Given the description of an element on the screen output the (x, y) to click on. 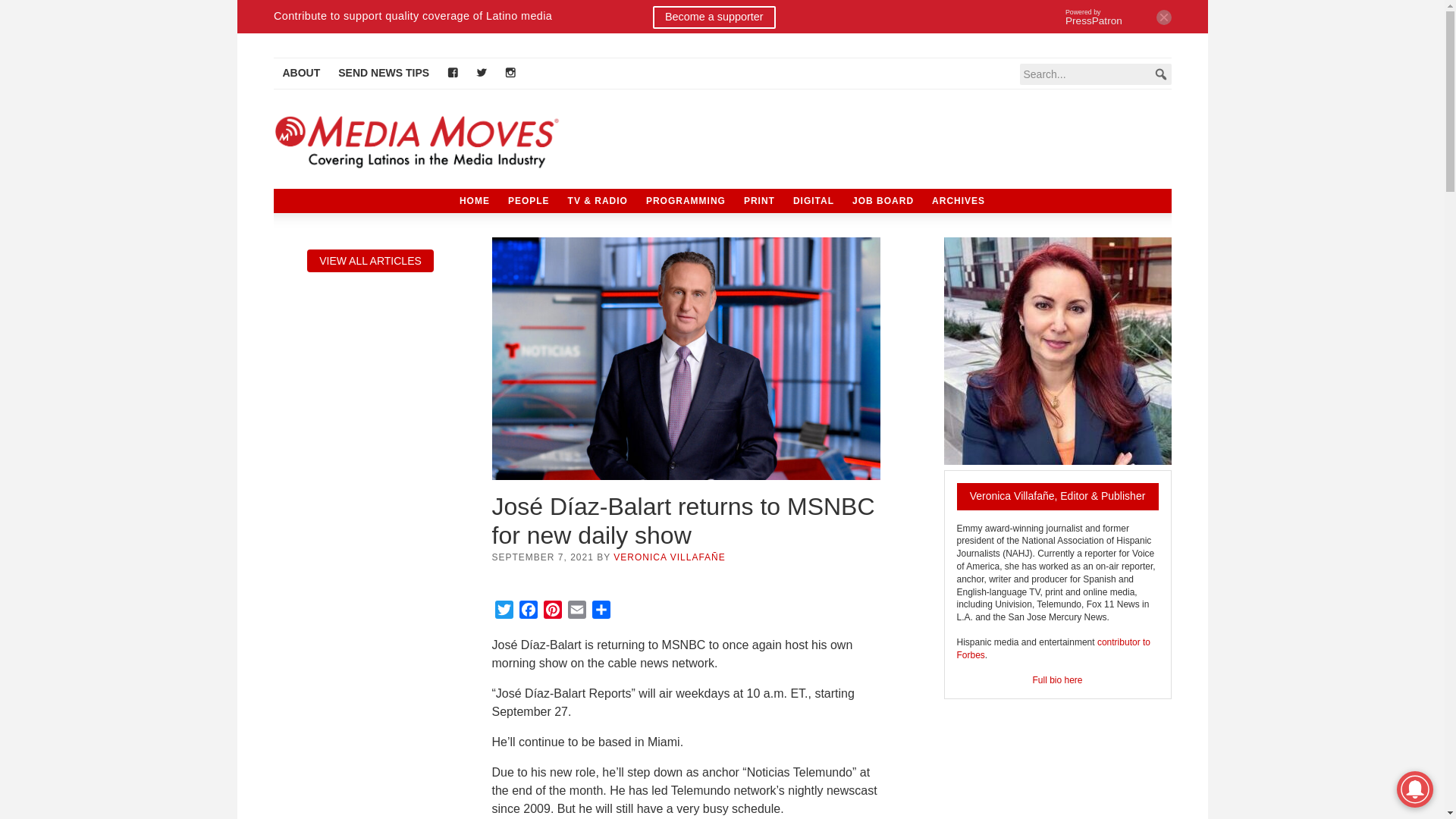
Share (600, 612)
JOB BOARD (883, 200)
DIGITAL (813, 200)
Media Moves (424, 141)
Facebook (527, 612)
Twitter (503, 612)
Facebook (527, 612)
PEOPLE (529, 200)
Pinterest (552, 612)
PRINT (759, 200)
SEND NEWS TIPS (383, 73)
Pinterest (552, 612)
Email (576, 612)
Email (576, 612)
PROGRAMMING (686, 200)
